Given the description of an element on the screen output the (x, y) to click on. 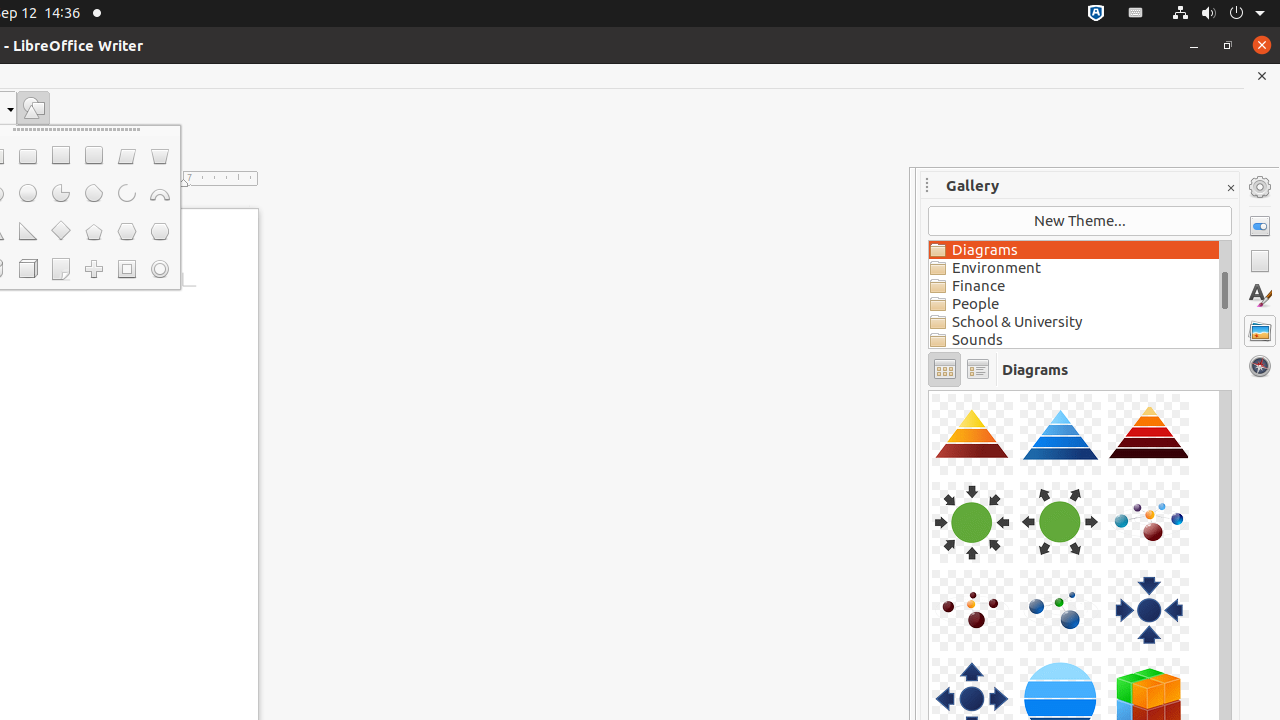
Diagrams Element type: list-item (1074, 249)
Regular Pentagon Element type: toggle-button (93, 231)
Component-Cube05-DarkRed Element type: list-item (929, 390)
Component-PuzzlePiece04-Red Element type: list-item (929, 390)
Square Element type: toggle-button (60, 155)
